Given the description of an element on the screen output the (x, y) to click on. 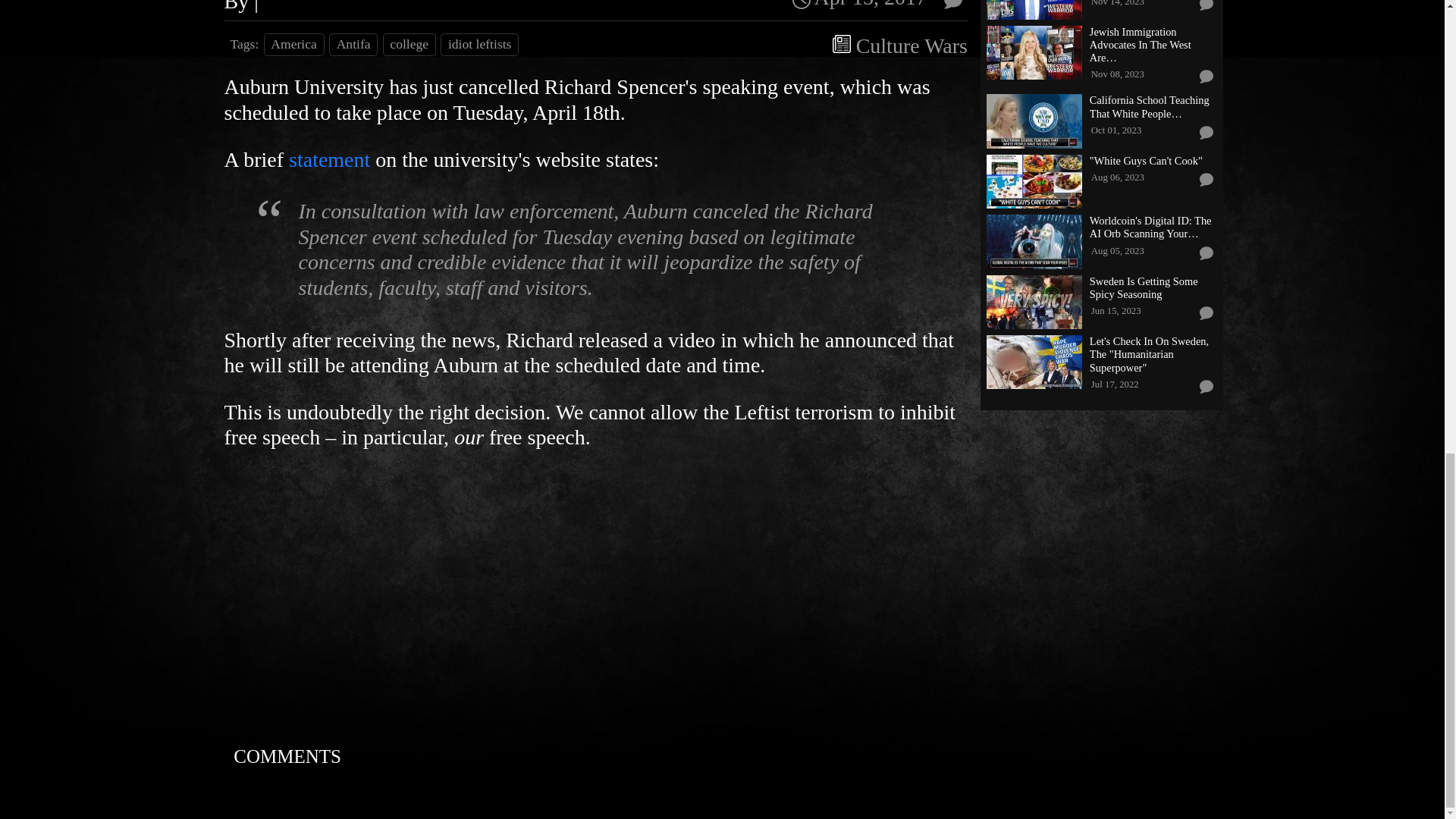
Culture Wars (912, 45)
statement (328, 159)
idiot leftists (479, 44)
college (408, 44)
America (293, 44)
Antifa (353, 44)
